Given the description of an element on the screen output the (x, y) to click on. 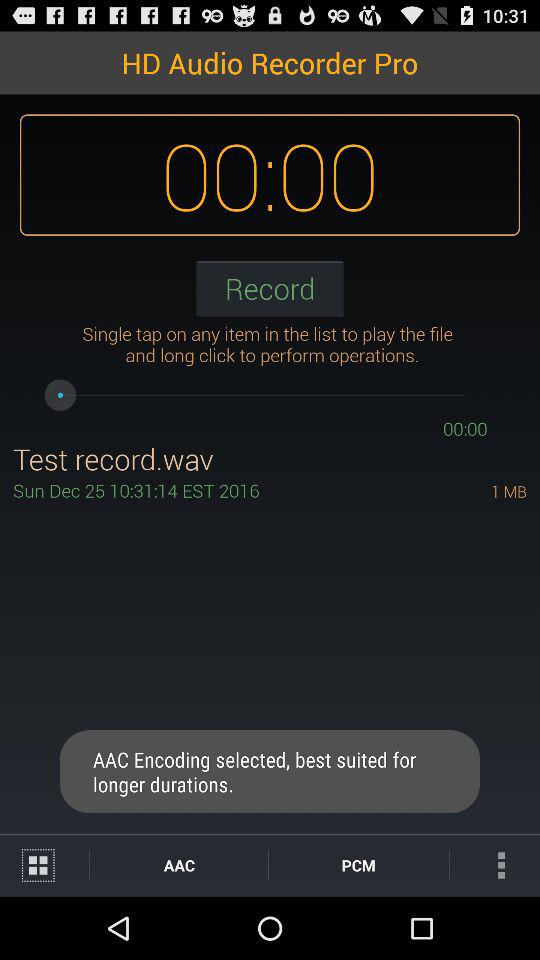
expand menu (44, 865)
